Given the description of an element on the screen output the (x, y) to click on. 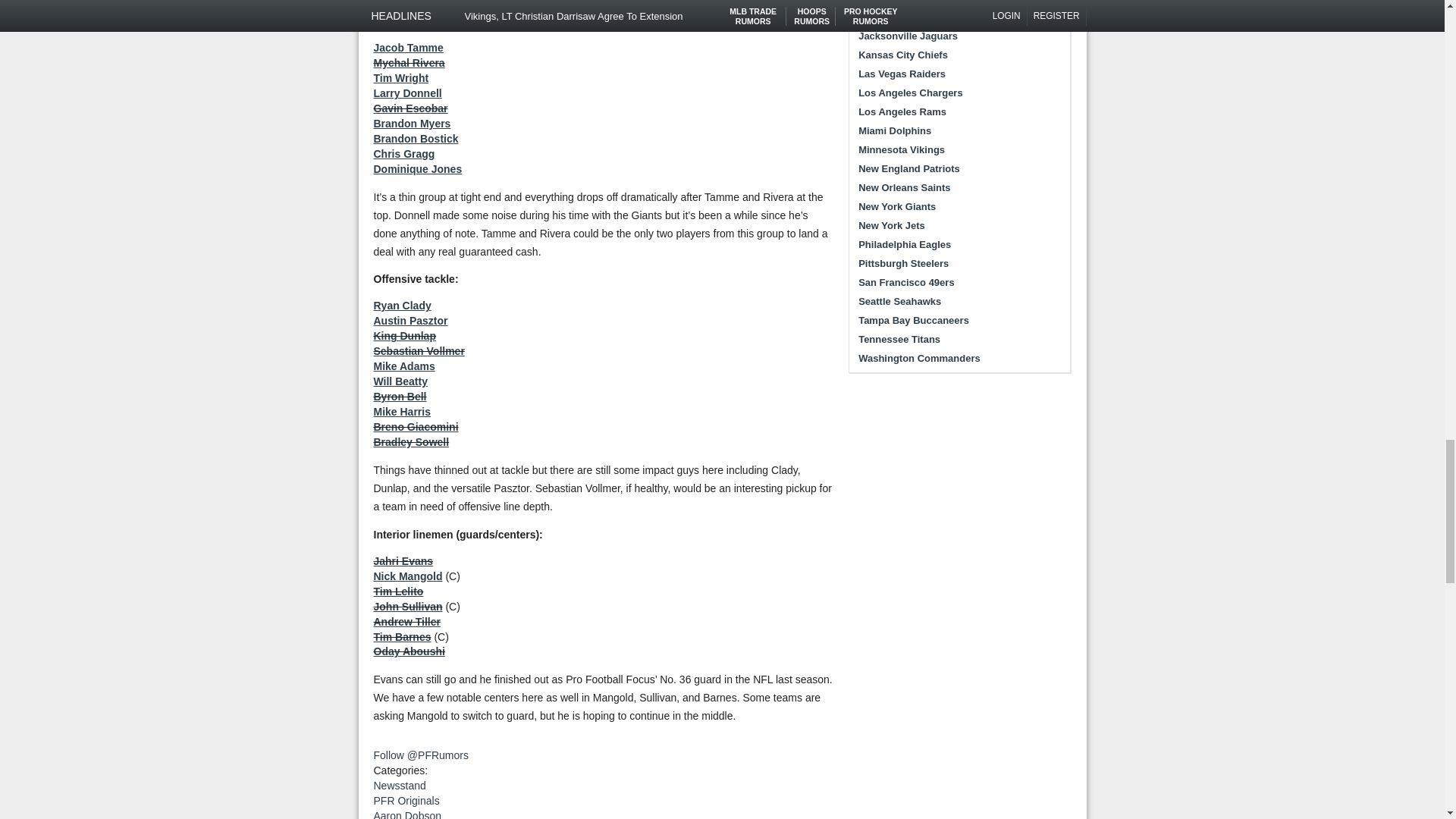
View all posts in Newsstand (398, 785)
View all posts in PFR Originals (405, 800)
View all posts in Aaron Dobson (406, 814)
